Given the description of an element on the screen output the (x, y) to click on. 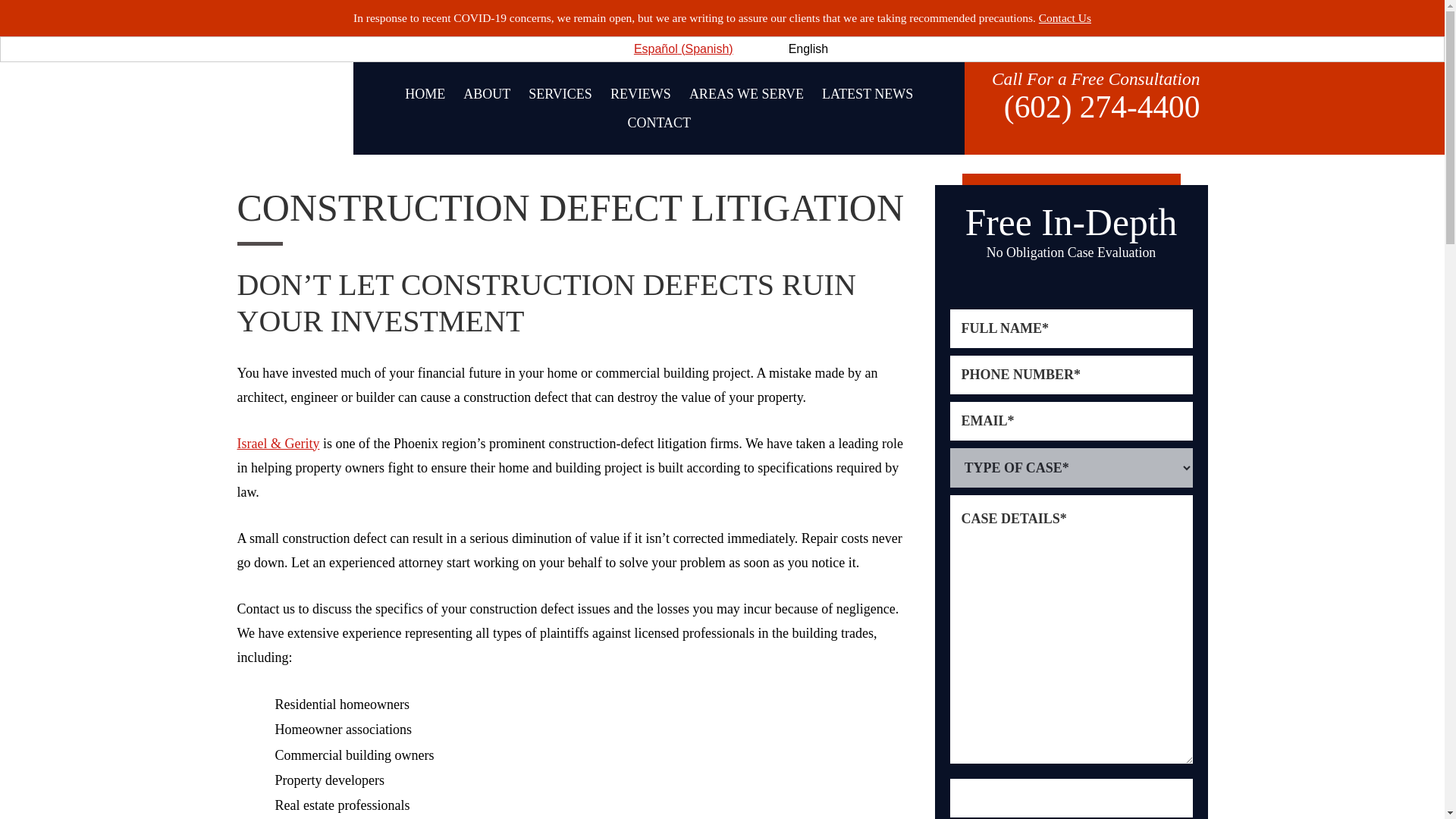
SERVICES (560, 93)
Contact Us (1064, 17)
HOME (424, 93)
ABOUT (486, 93)
